Given the description of an element on the screen output the (x, y) to click on. 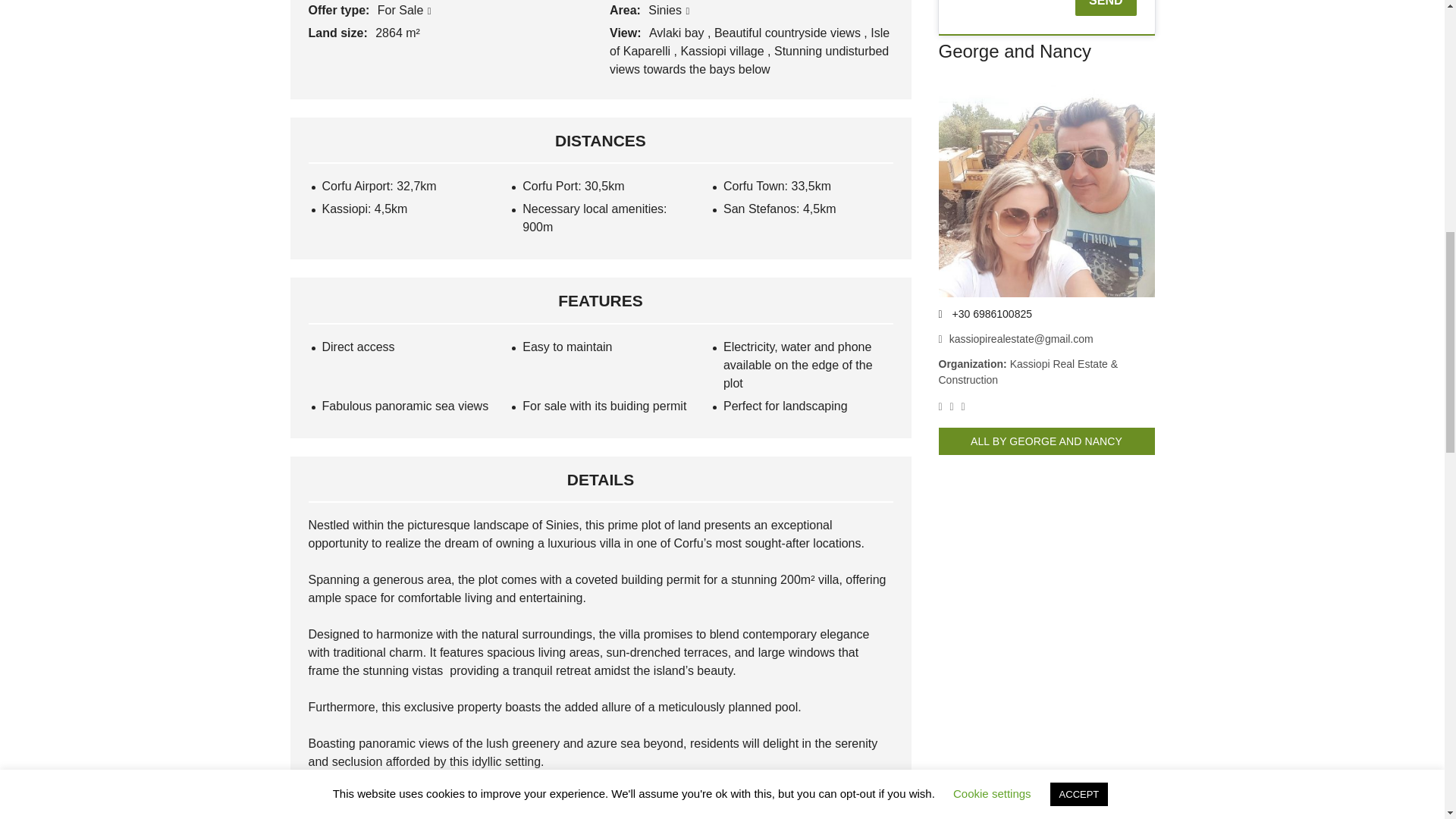
Sinies (667, 10)
For Sale (403, 10)
